Given the description of an element on the screen output the (x, y) to click on. 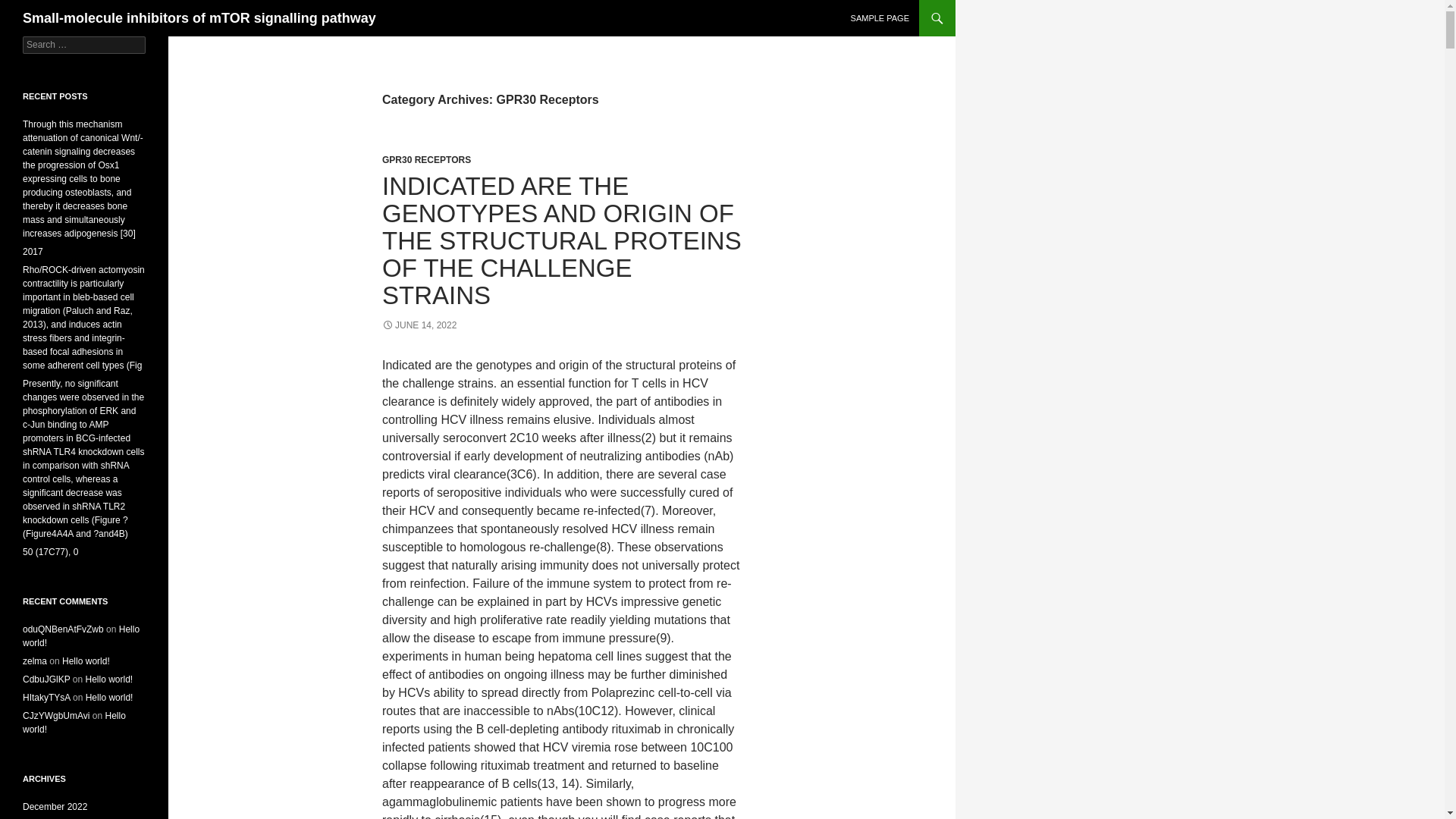
SAMPLE PAGE (879, 18)
Small-molecule inhibitors of mTOR signalling pathway (199, 18)
GPR30 RECEPTORS (425, 159)
JUNE 14, 2022 (419, 325)
